Given the description of an element on the screen output the (x, y) to click on. 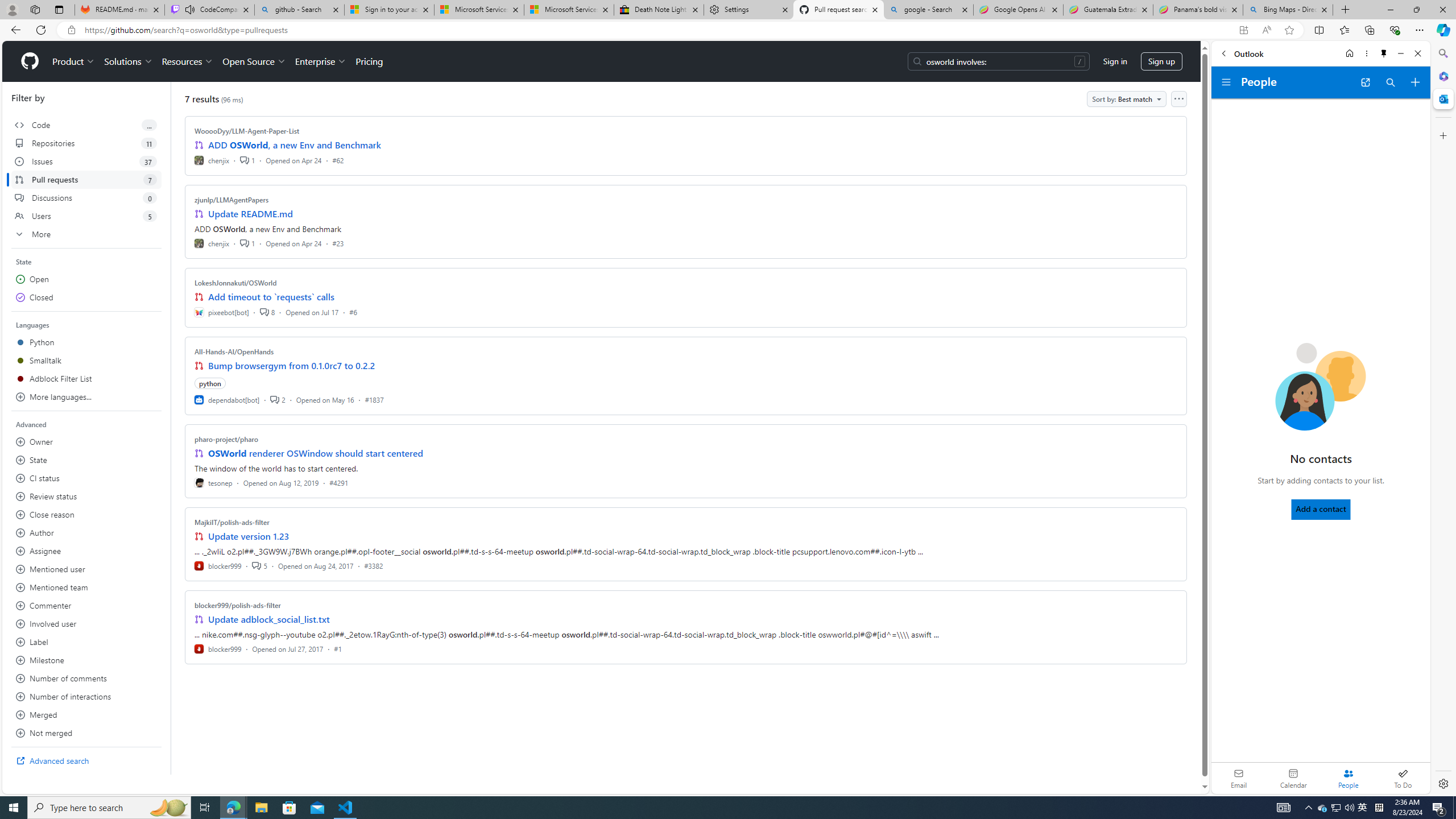
OSWorld renderer OSWindow should start centered (315, 453)
#3382 (373, 565)
Update README.md (250, 213)
Create new contact (1414, 82)
zjunlp/LLMAgentPapers (232, 199)
More (86, 234)
